Given the description of an element on the screen output the (x, y) to click on. 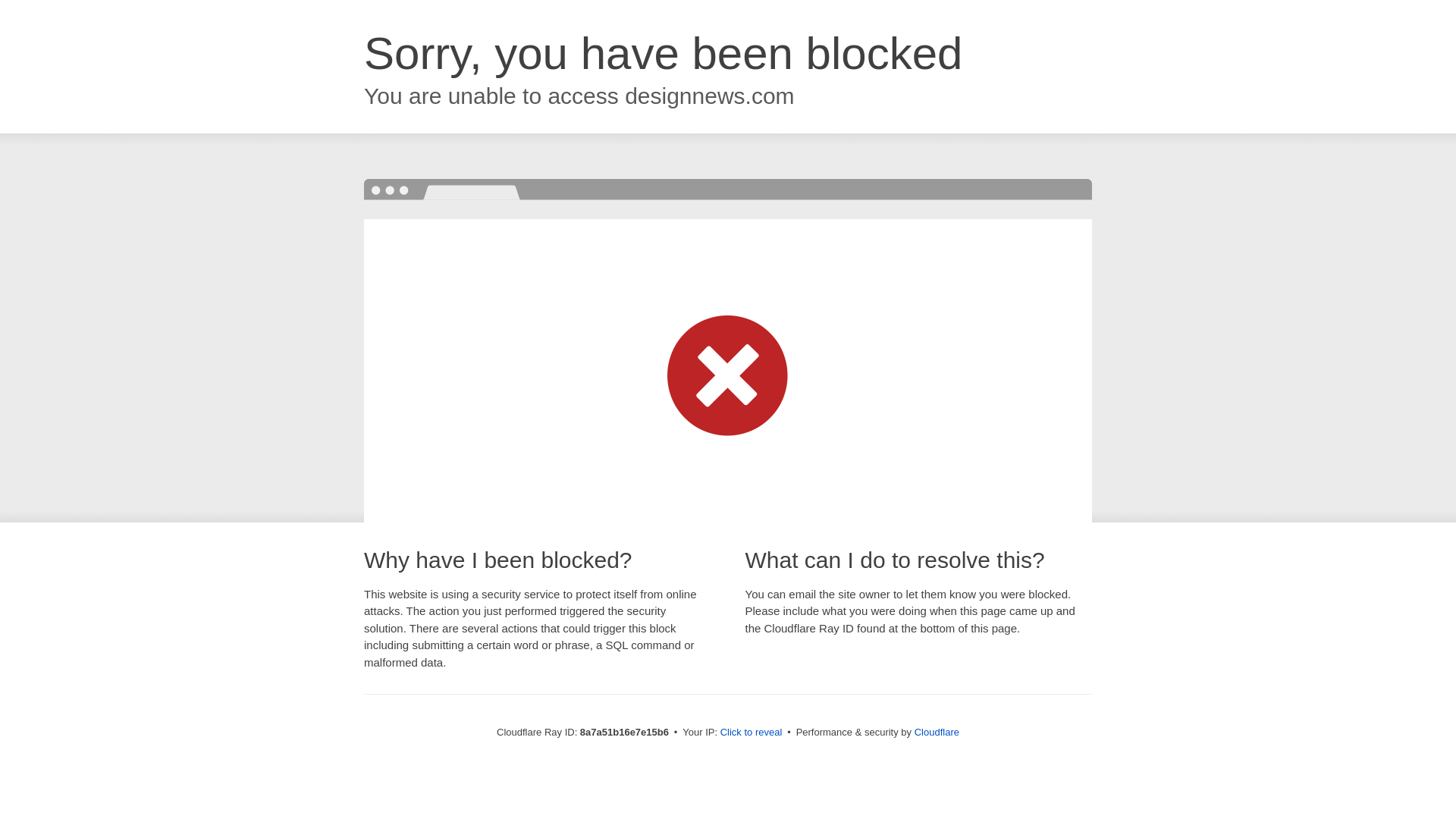
Cloudflare (936, 731)
Click to reveal (751, 732)
